Given the description of an element on the screen output the (x, y) to click on. 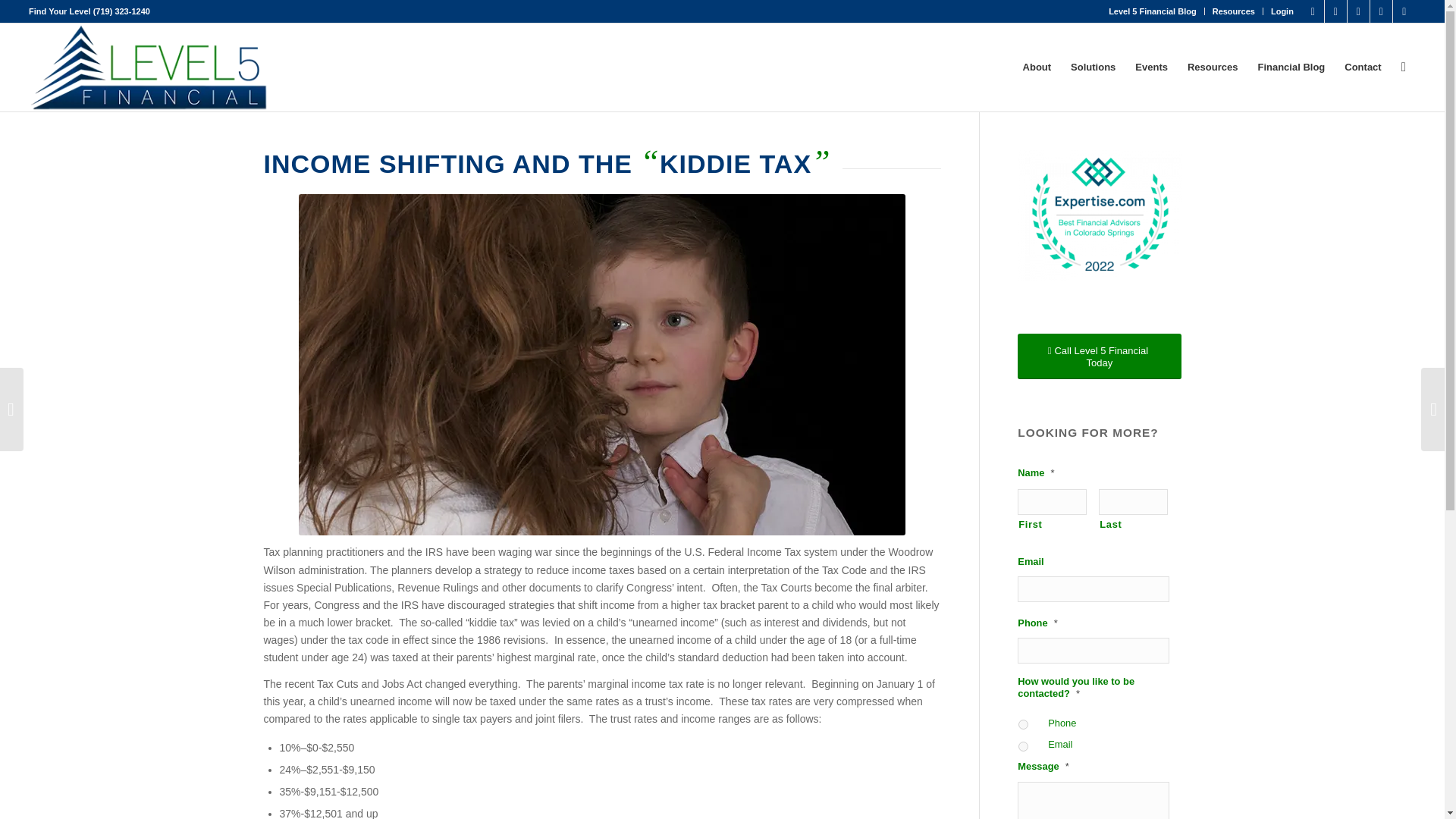
Financial Blog (1291, 67)
Youtube (1380, 11)
Email (1022, 746)
Login (1282, 11)
Phone (1022, 724)
Resources (1233, 11)
LinkedIn (1335, 11)
Facebook (1312, 11)
Call Level 5 Financial Today (1098, 356)
Twitter (1359, 11)
Level 5 Financial Blog (1152, 11)
Instagram (1404, 11)
